Given the description of an element on the screen output the (x, y) to click on. 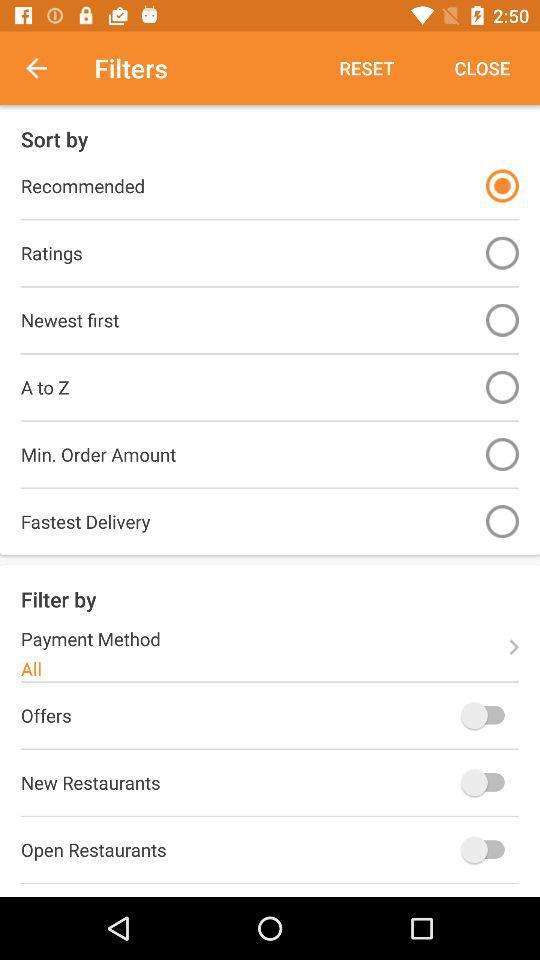
toggle to list by a to z (502, 386)
